Given the description of an element on the screen output the (x, y) to click on. 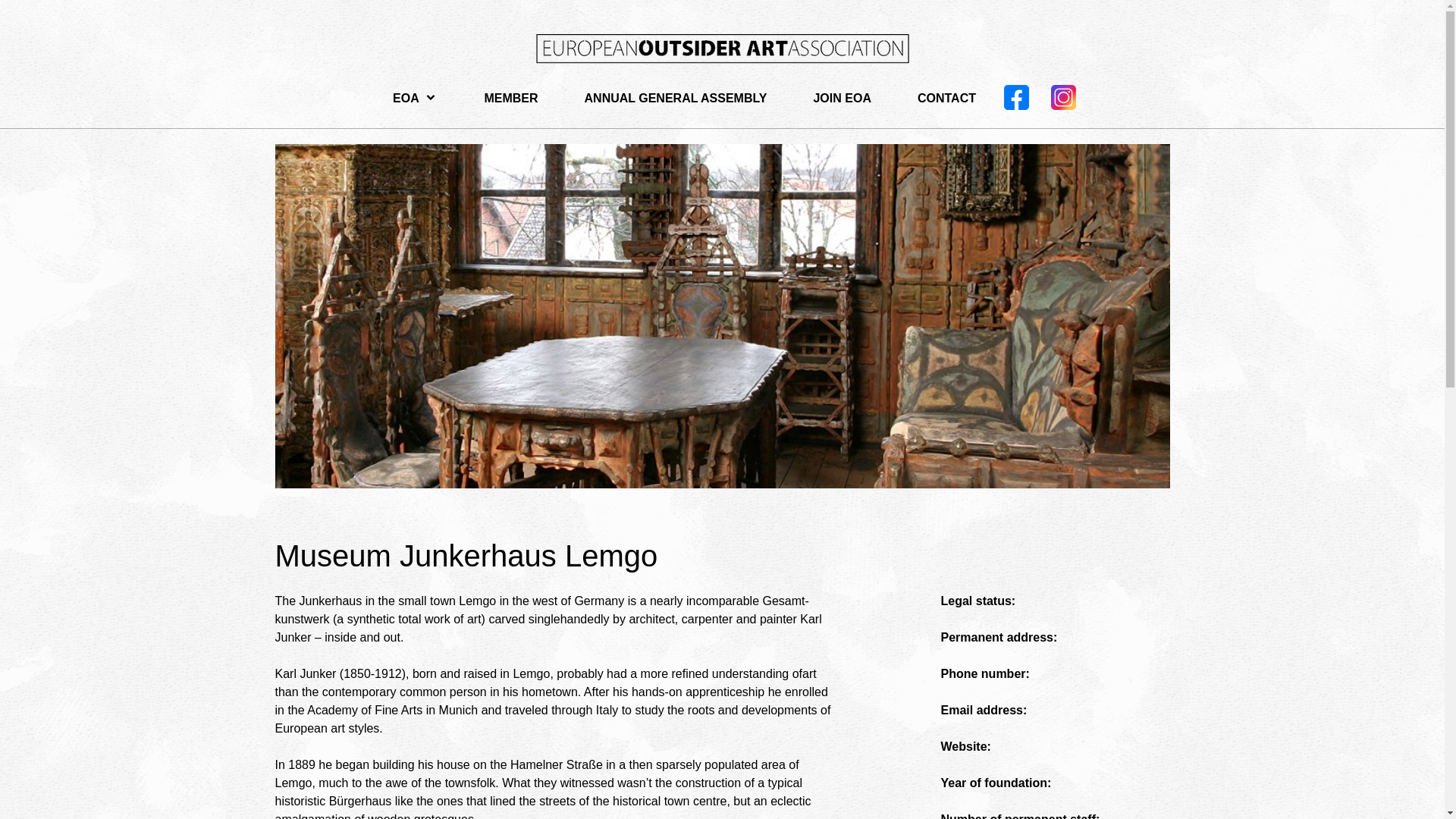
MEMBER (499, 97)
EOA (403, 97)
CONTACT (935, 97)
JOIN EOA (830, 97)
ANNUAL GENERAL ASSEMBLY (664, 97)
